Given the description of an element on the screen output the (x, y) to click on. 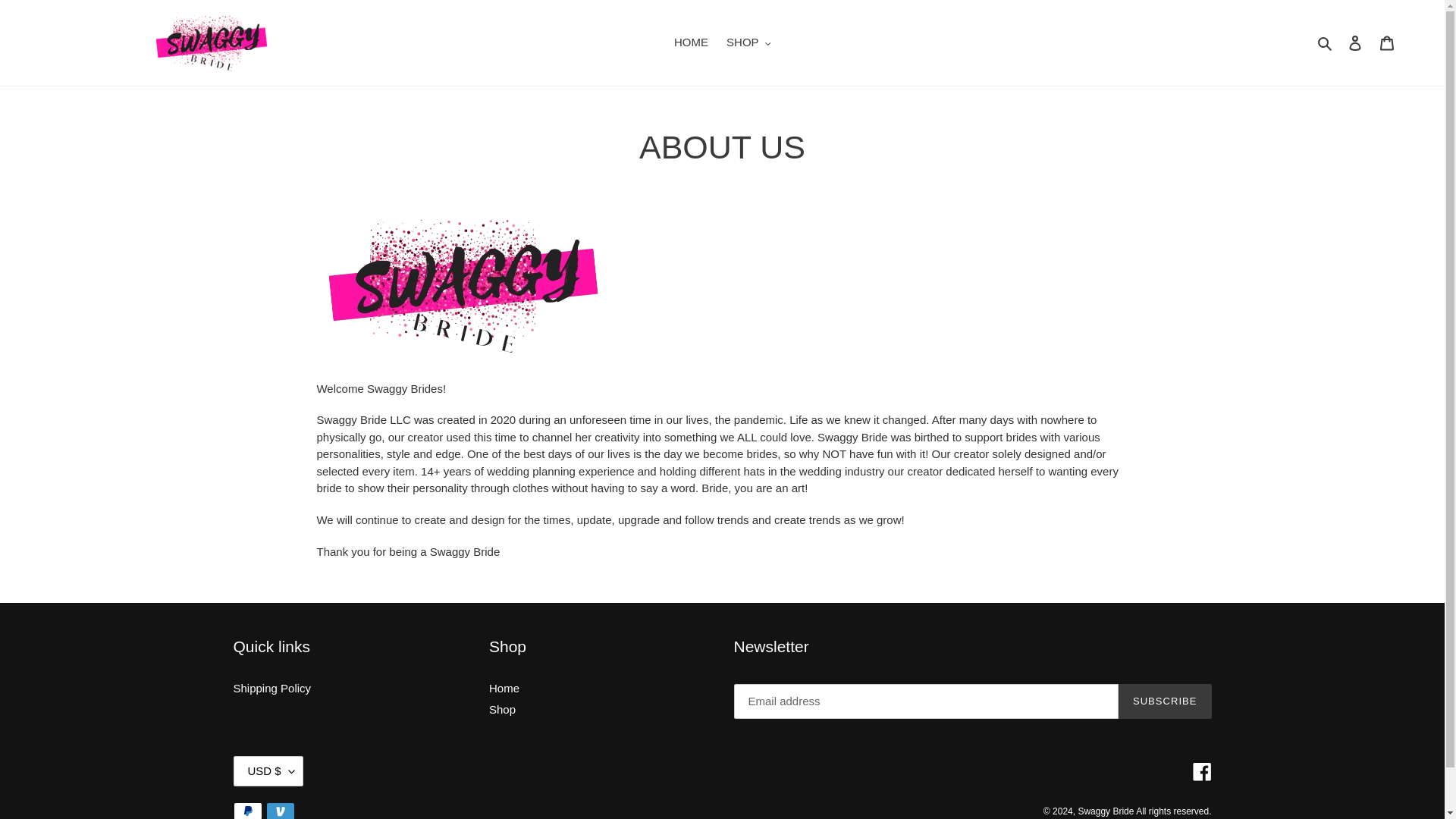
Cart (1387, 42)
SHOP (748, 42)
HOME (691, 42)
Search (1326, 42)
Log in (1355, 42)
